Given the description of an element on the screen output the (x, y) to click on. 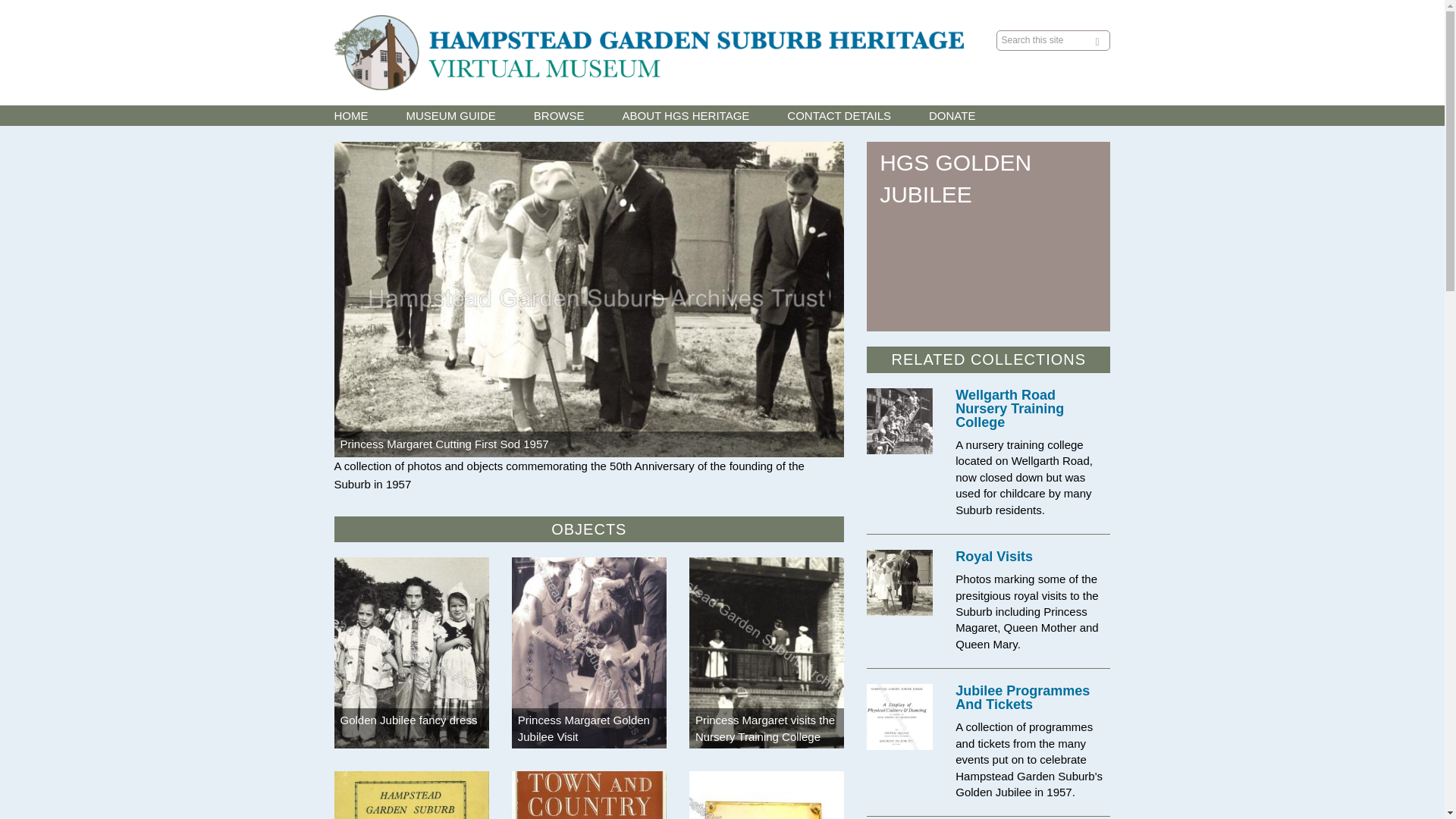
Princess Margaret Golden Jubilee Visit (583, 727)
Princess Margaret Cutting First Sod 1957 (443, 443)
HOME (350, 115)
Hampstead Garden Suburb Heritage (647, 52)
CONTACT DETAILS (839, 115)
BROWSE (559, 115)
MUSEUM GUIDE (451, 115)
Princess Margaret visits the Nursery Training College (764, 727)
ABOUT HGS HERITAGE (686, 115)
Golden Jubilee fancy dress (408, 719)
DONATE (951, 115)
